Given the description of an element on the screen output the (x, y) to click on. 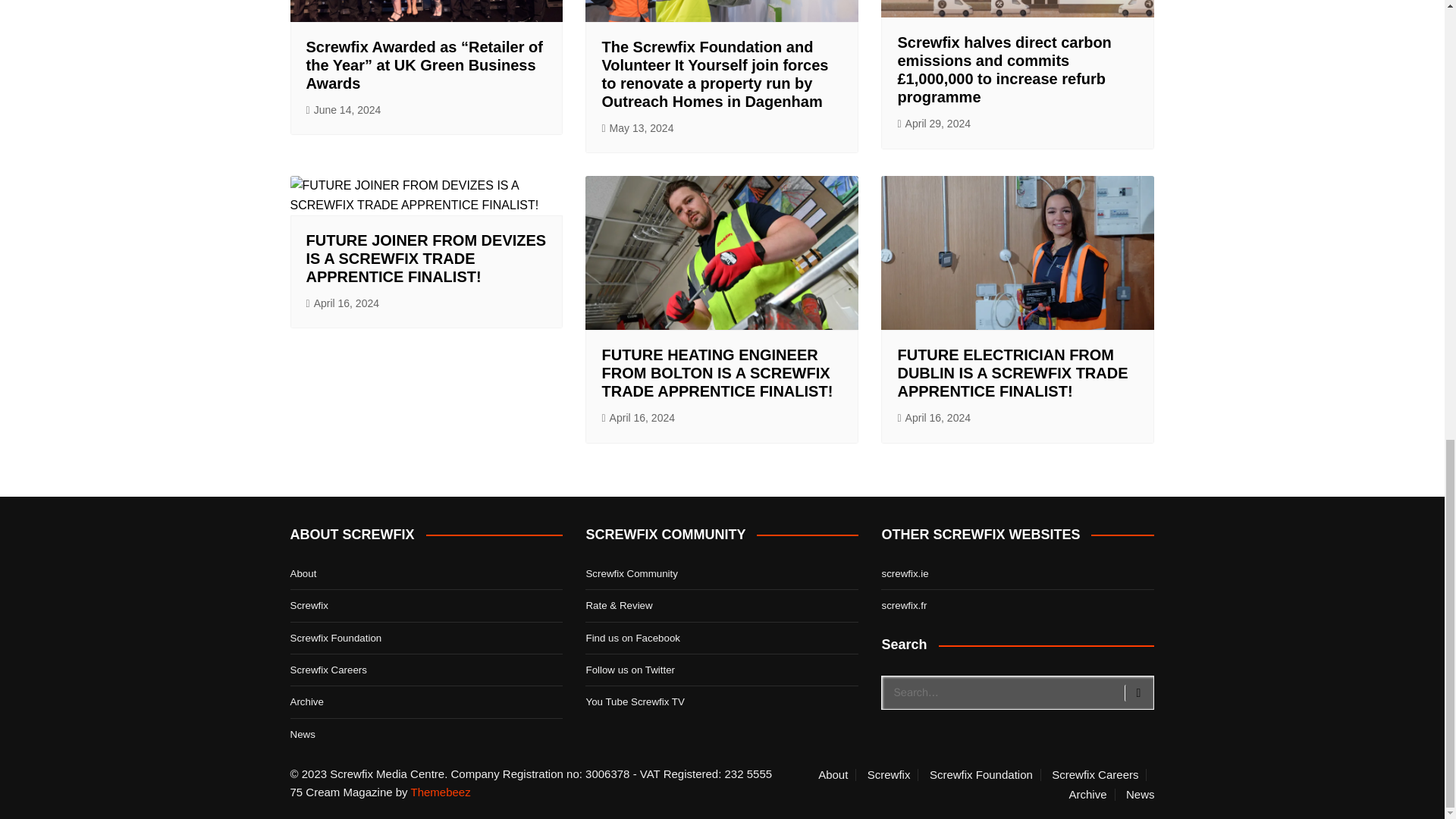
June 14, 2024 (343, 109)
April 29, 2024 (933, 123)
April 16, 2024 (342, 303)
May 13, 2024 (636, 128)
